Given the description of an element on the screen output the (x, y) to click on. 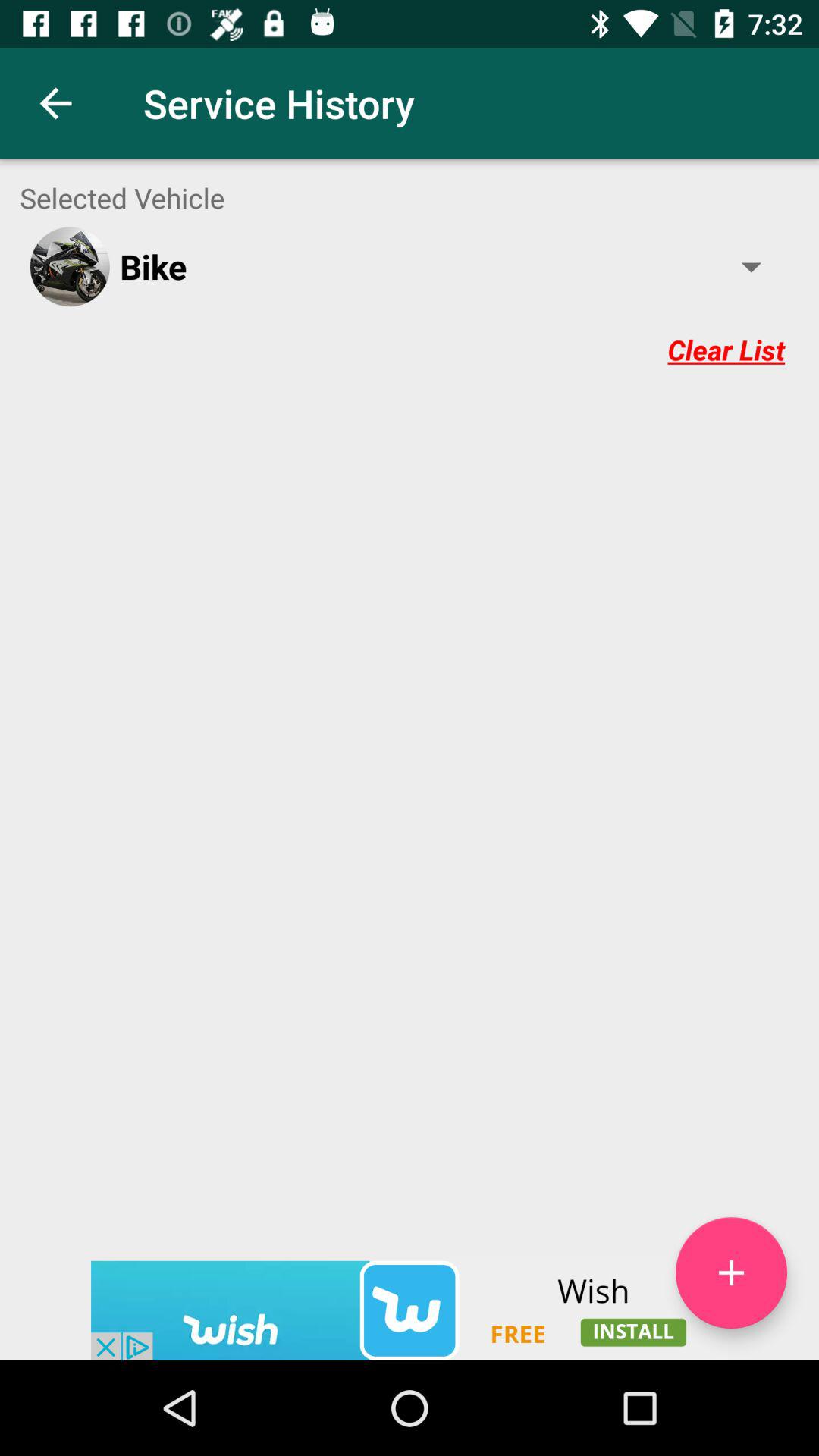
add item (731, 1272)
